Given the description of an element on the screen output the (x, y) to click on. 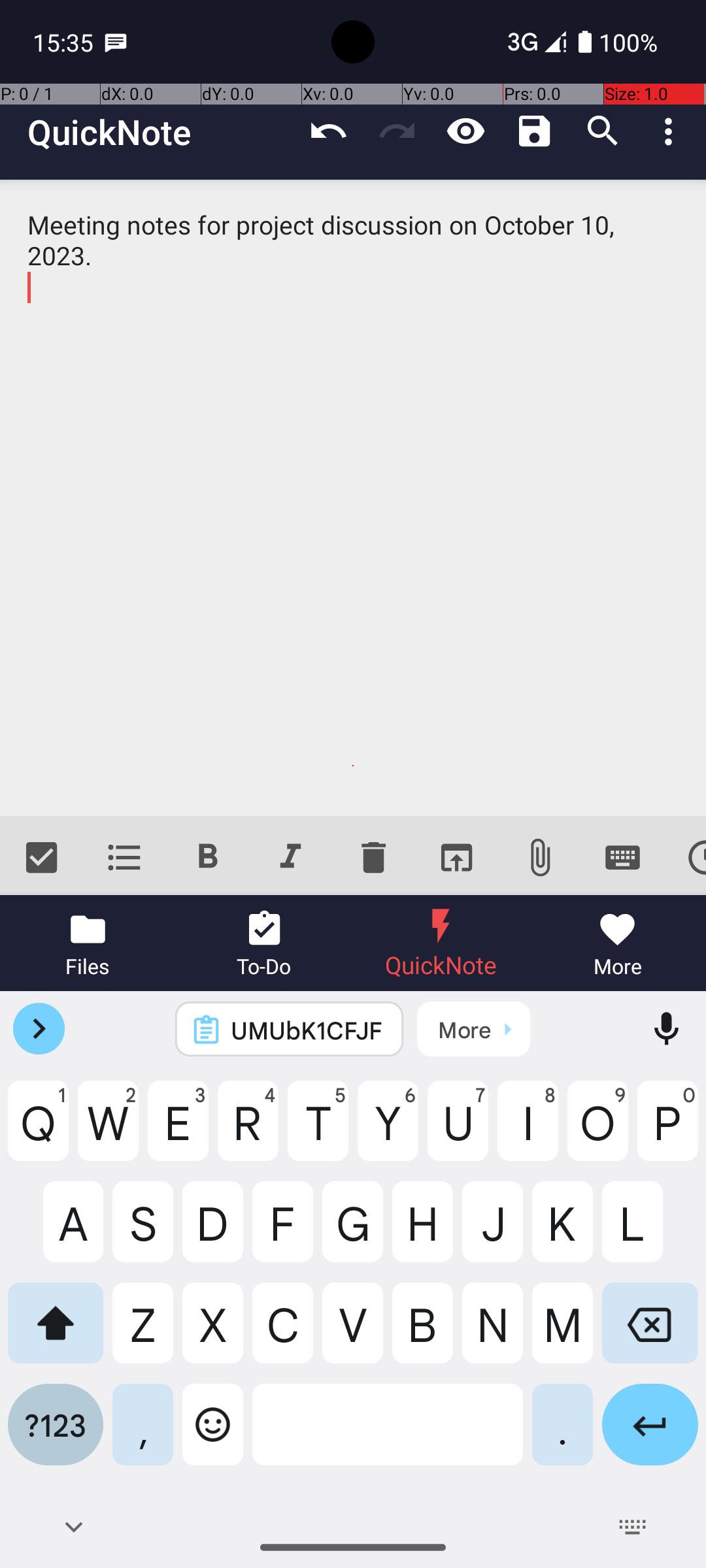
Meeting notes for project discussion on October 10, 2023.
 Element type: android.widget.EditText (353, 497)
UMUbK1CFJF Element type: android.widget.TextView (306, 1029)
